Given the description of an element on the screen output the (x, y) to click on. 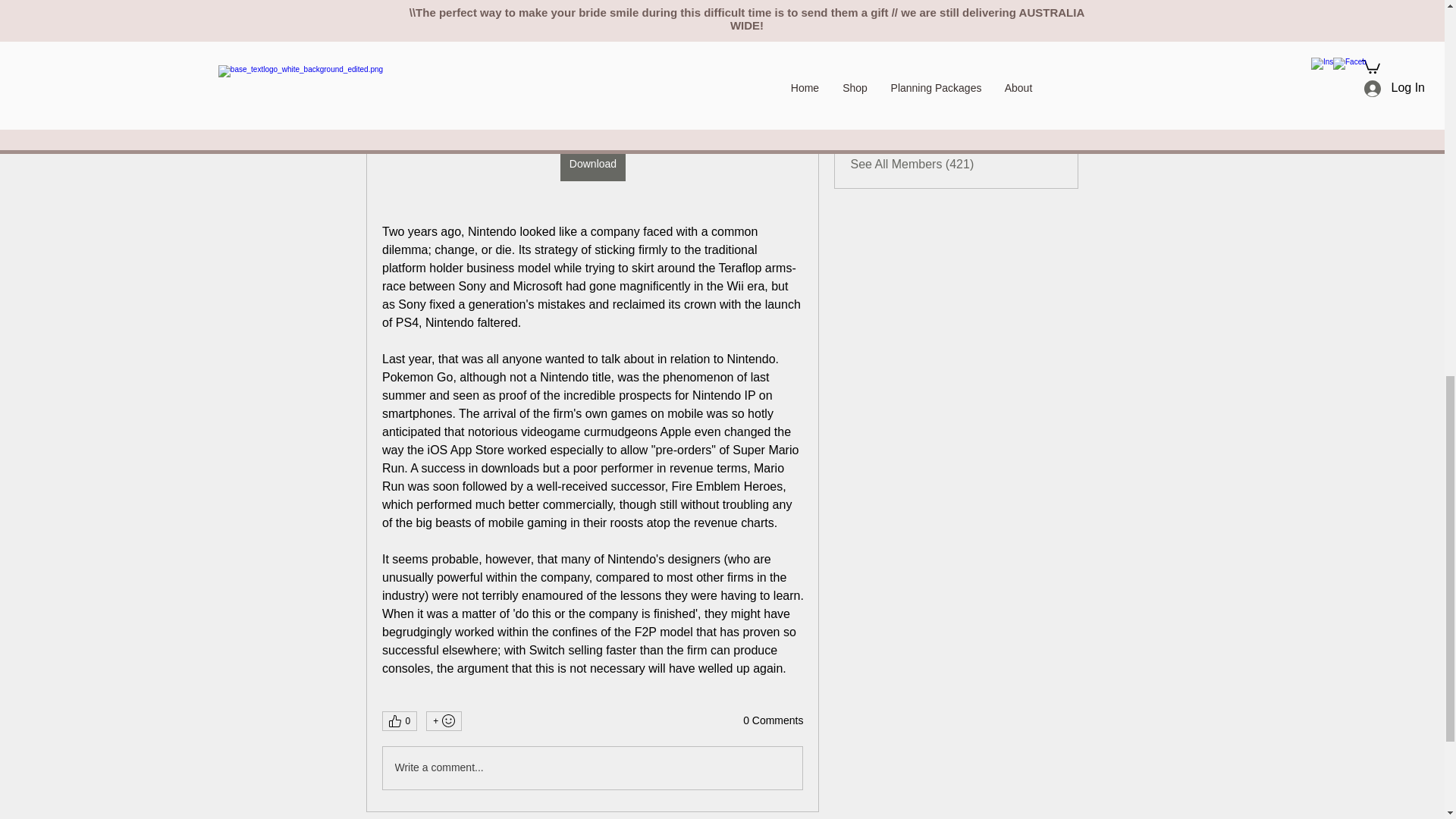
24hmb66com (922, 16)
c54.ag1 (908, 89)
24hmb66com (863, 17)
Download (591, 163)
0 Comments (772, 720)
tranthuynhilutp5600 (939, 53)
Write a comment... (591, 767)
tranthuynhilutp5600 (939, 53)
24hmb66com (922, 16)
Albert Barnes (863, 126)
